Given the description of an element on the screen output the (x, y) to click on. 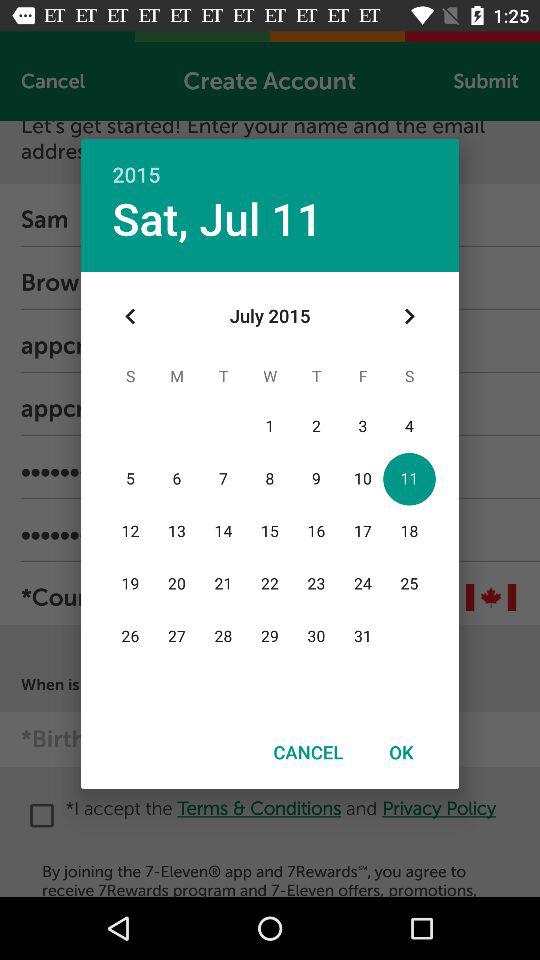
select cancel (308, 751)
